Given the description of an element on the screen output the (x, y) to click on. 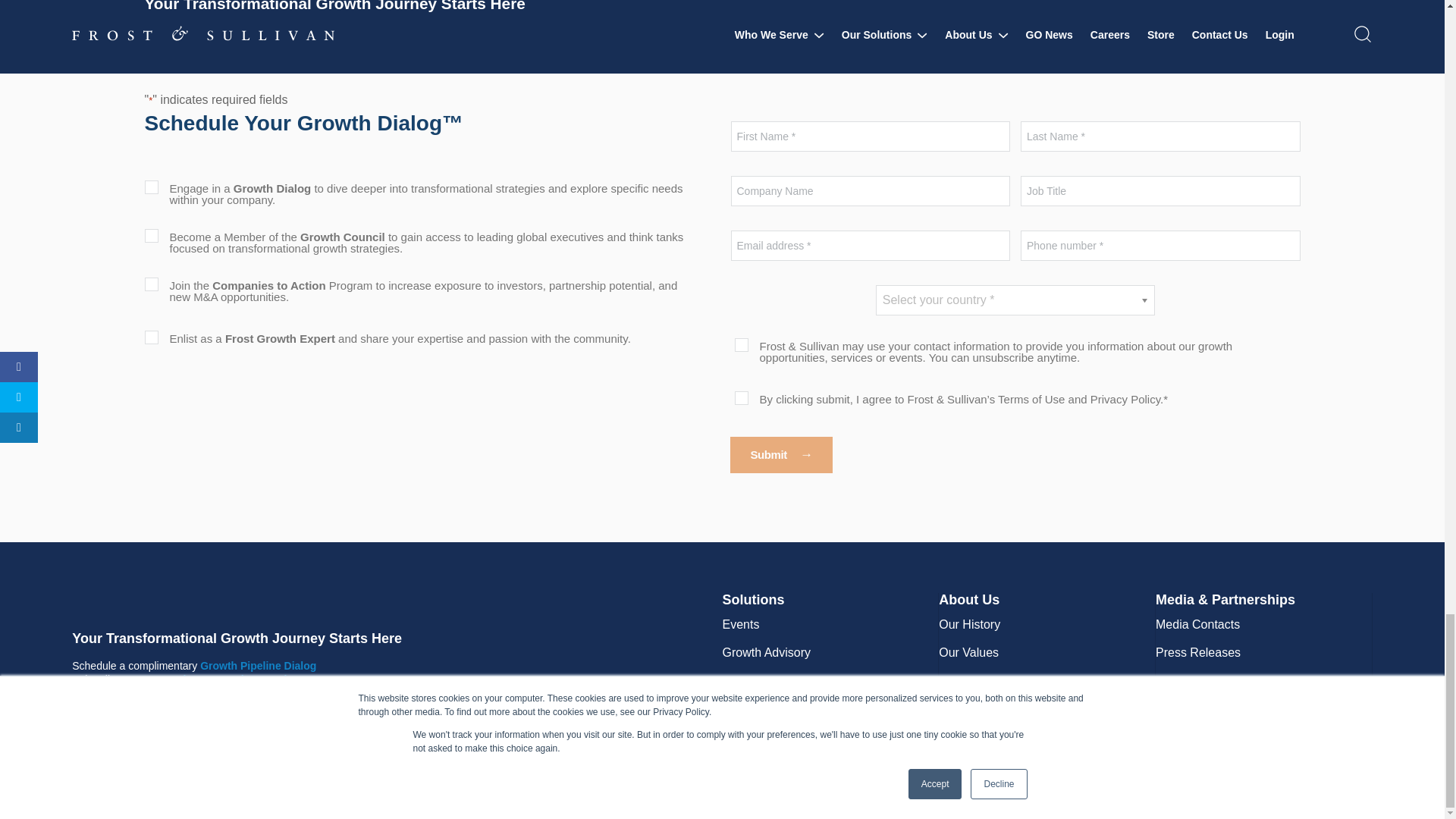
frostsullivanlogo (223, 601)
